Given the description of an element on the screen output the (x, y) to click on. 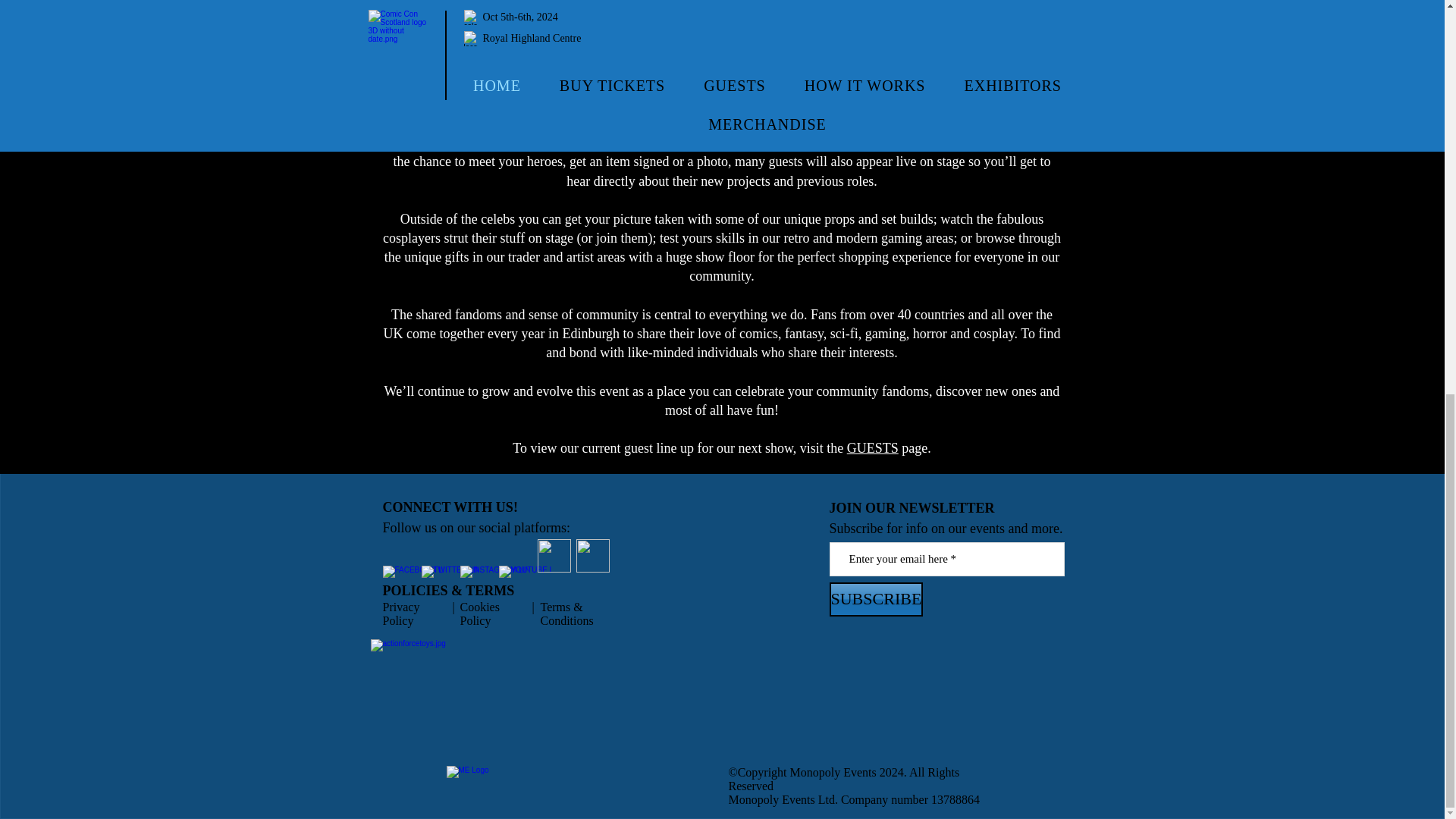
Cookies Policy (479, 613)
Privacy Policy (400, 613)
SUBSCRIBE (876, 599)
Monopoly Events (833, 771)
GUESTS (872, 447)
